Given the description of an element on the screen output the (x, y) to click on. 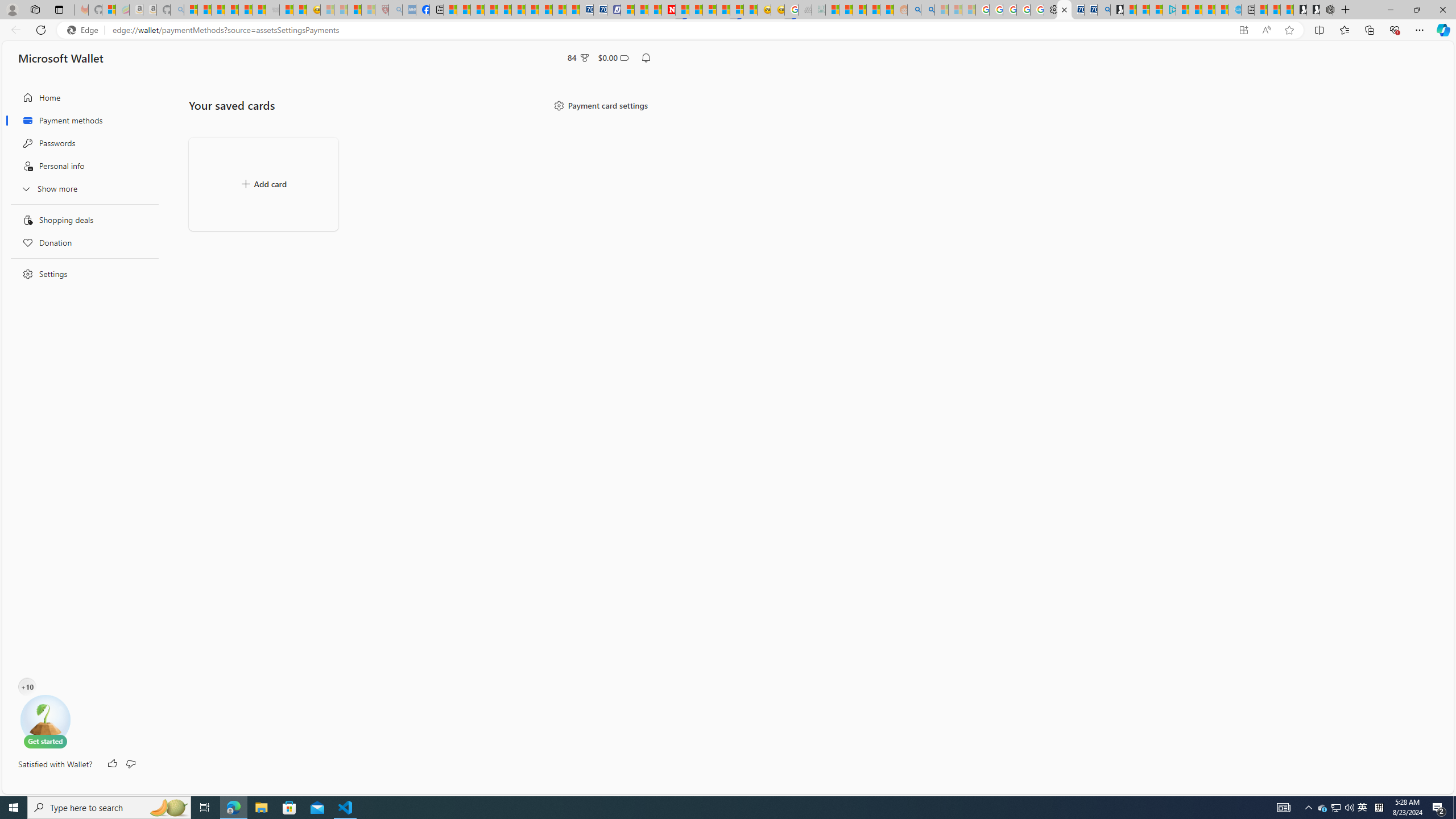
The Weather Channel - MSN (218, 9)
E-tree (44, 720)
